Given the description of an element on the screen output the (x, y) to click on. 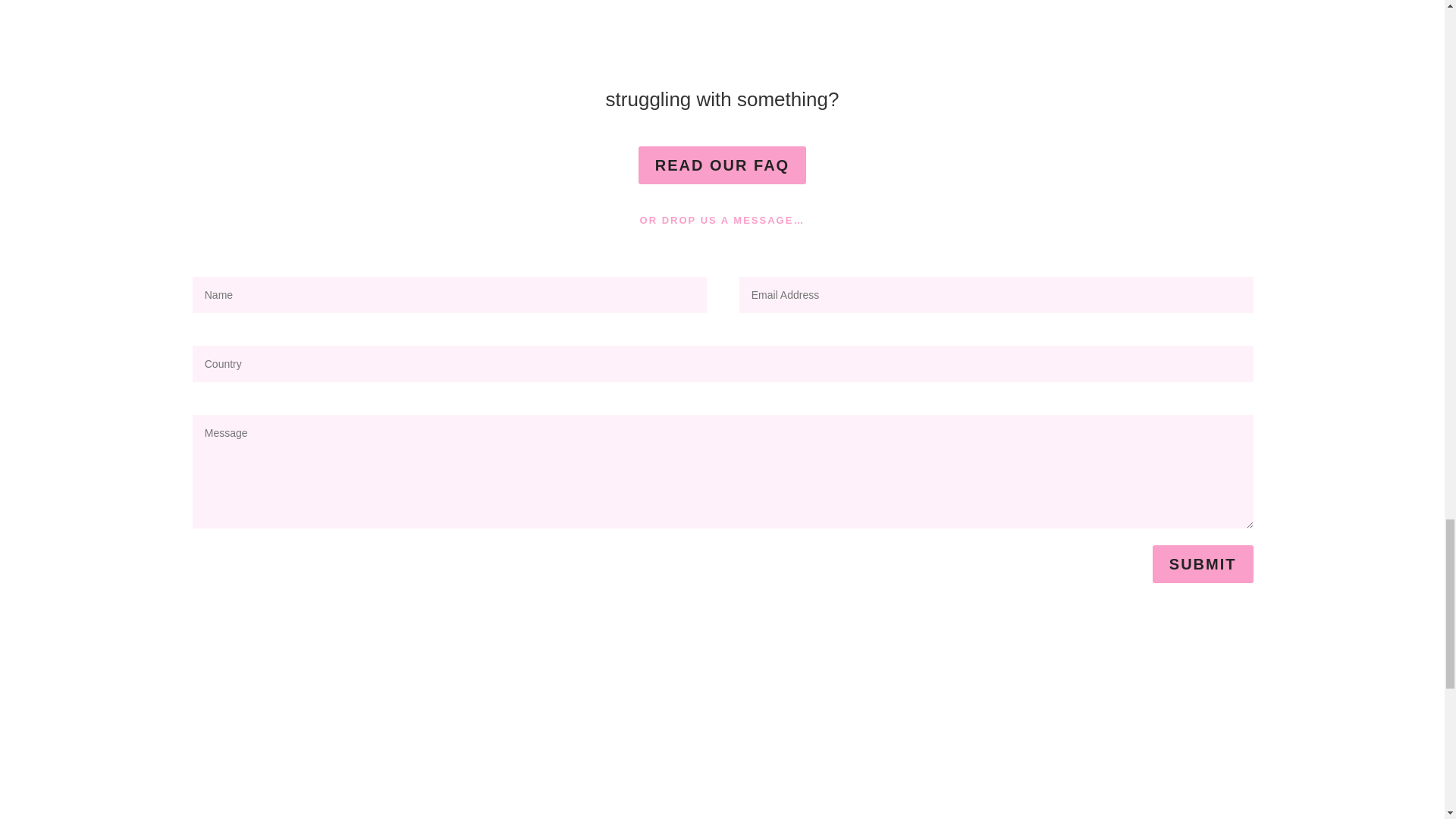
READ OUR FAQ (722, 165)
SUBMIT (1203, 564)
